Given the description of an element on the screen output the (x, y) to click on. 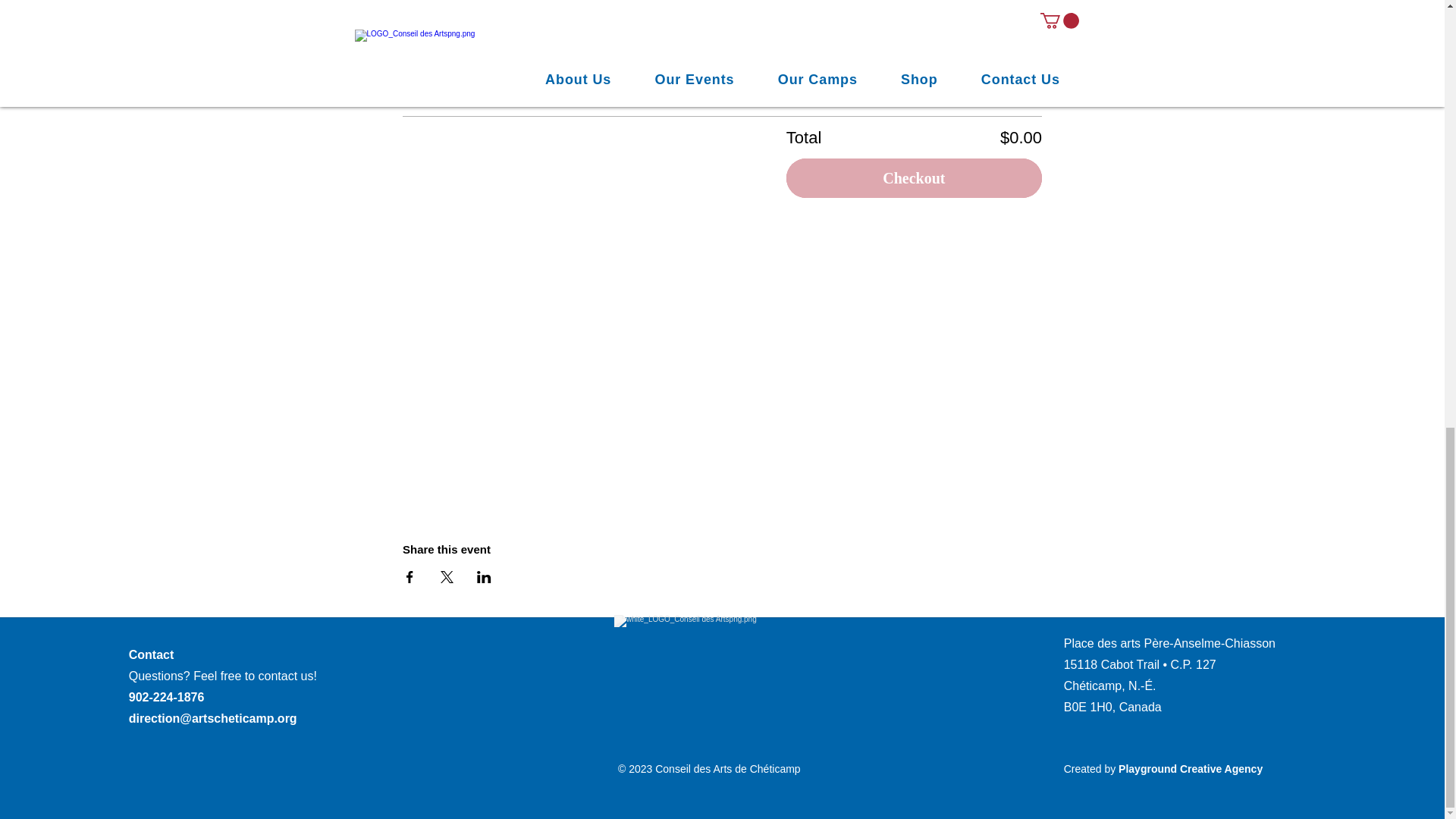
902-224-1876 (167, 697)
Playground Creative Agency (1190, 768)
Checkout (914, 178)
